Given the description of an element on the screen output the (x, y) to click on. 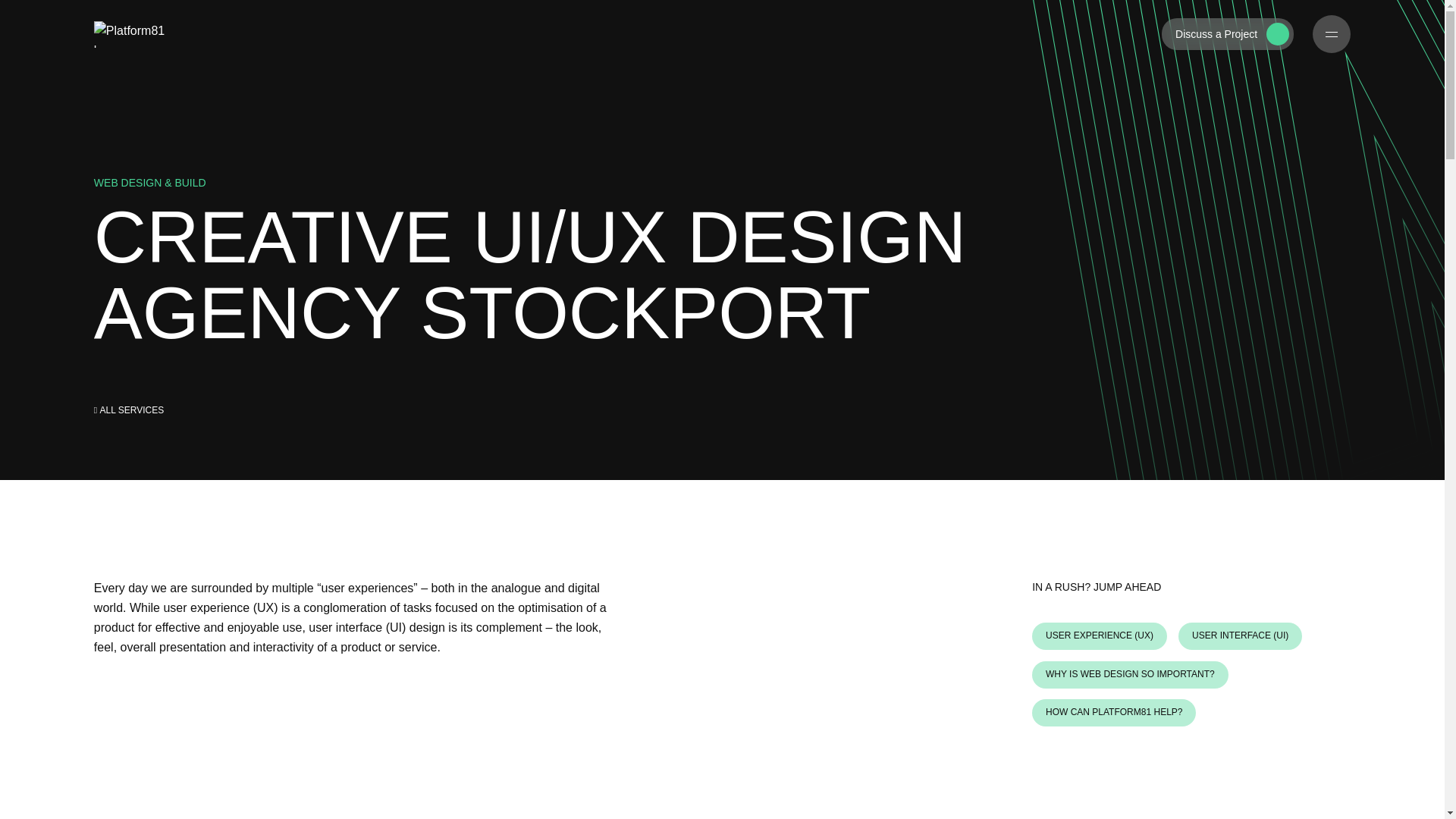
Discuss a Project (1227, 33)
HOW CAN PLATFORM81 HELP? (1113, 712)
ALL SERVICES (128, 410)
WHY IS WEB DESIGN SO IMPORTANT? (1130, 674)
